Given the description of an element on the screen output the (x, y) to click on. 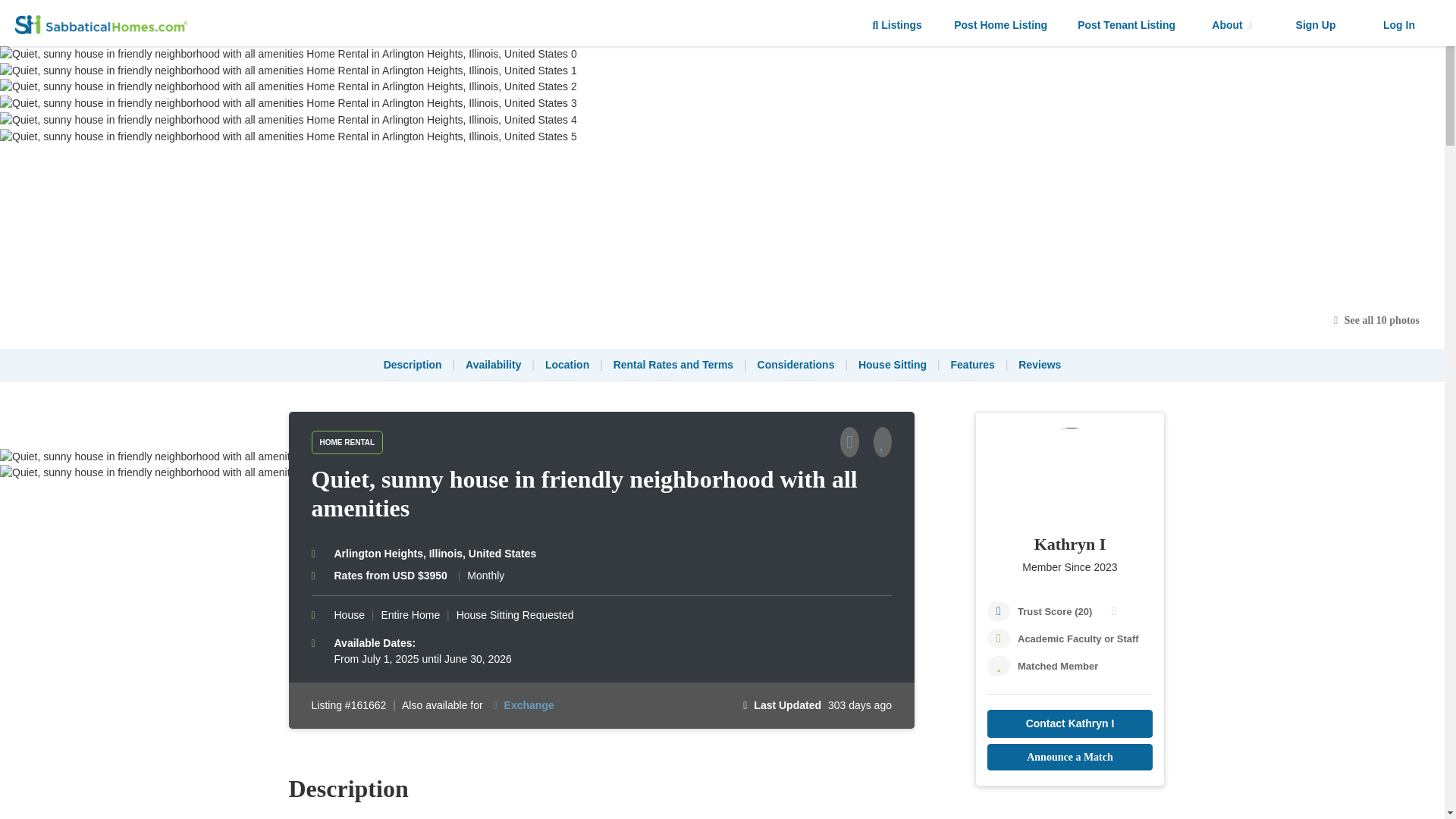
Kathryn I (1070, 543)
Log In (1398, 25)
Listings (897, 25)
Sign Up (1315, 25)
Post Home Listing (1000, 25)
Share This Listing (855, 444)
About (1232, 25)
Post Tenant Listing (1126, 25)
